Given the description of an element on the screen output the (x, y) to click on. 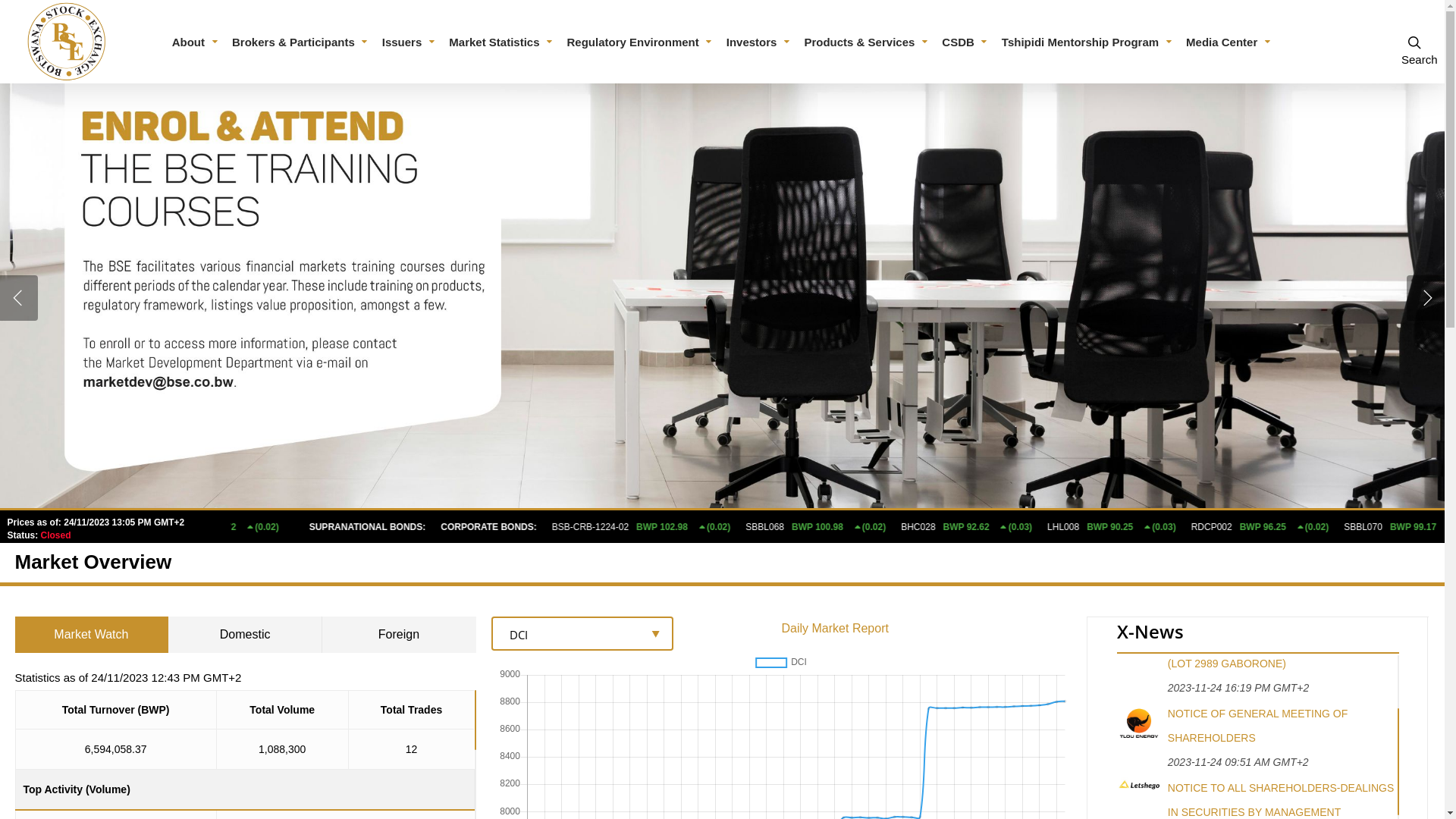
Domestic Element type: text (245, 634)
Foreign Element type: text (399, 634)
CSDB Element type: text (965, 41)
Tshipidi Mentorship Program Element type: text (1087, 41)
Issuers Element type: text (409, 41)
Market Statistics Element type: text (501, 41)
Regulatory Environment Element type: text (640, 41)
Brokers & Participants Element type: text (301, 41)
Daily Market Report Element type: text (834, 627)
Products & Services Element type: text (866, 41)
About Element type: text (195, 41)
Media Center Element type: text (1229, 41)
Market Watch Element type: text (92, 634)
Search Element type: text (1414, 41)
Investors Element type: text (759, 41)
